Given the description of an element on the screen output the (x, y) to click on. 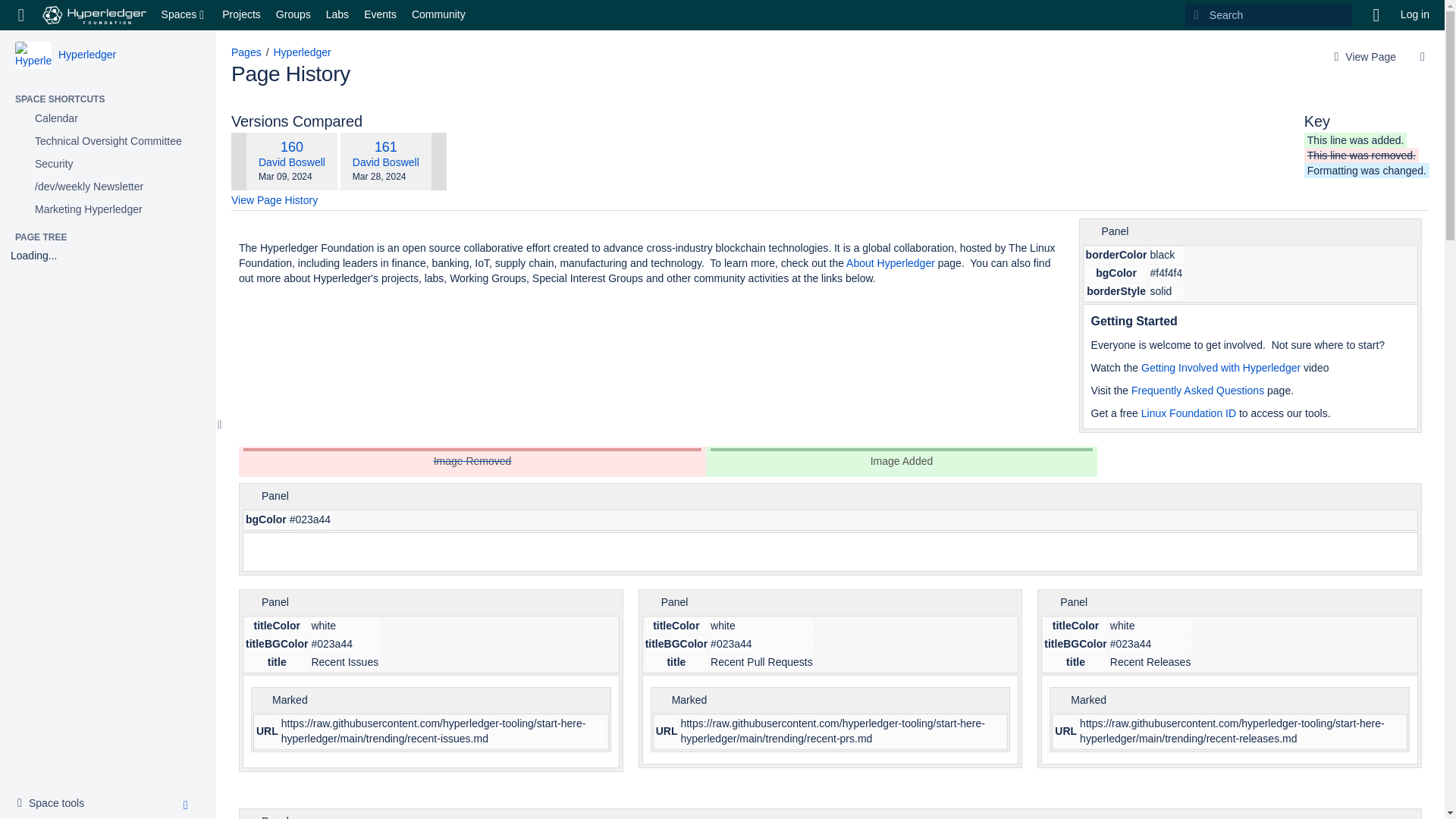
Hyperledger (87, 54)
Help (1376, 15)
Groups (292, 15)
Marketing Hyperledger (107, 209)
Projects (240, 15)
Spaces (184, 15)
Linked Applications (20, 15)
Help (1376, 15)
Events (380, 15)
Calendar (107, 118)
Security (107, 163)
Pages (246, 51)
Hyperledger (87, 54)
Spaces (184, 15)
